Given the description of an element on the screen output the (x, y) to click on. 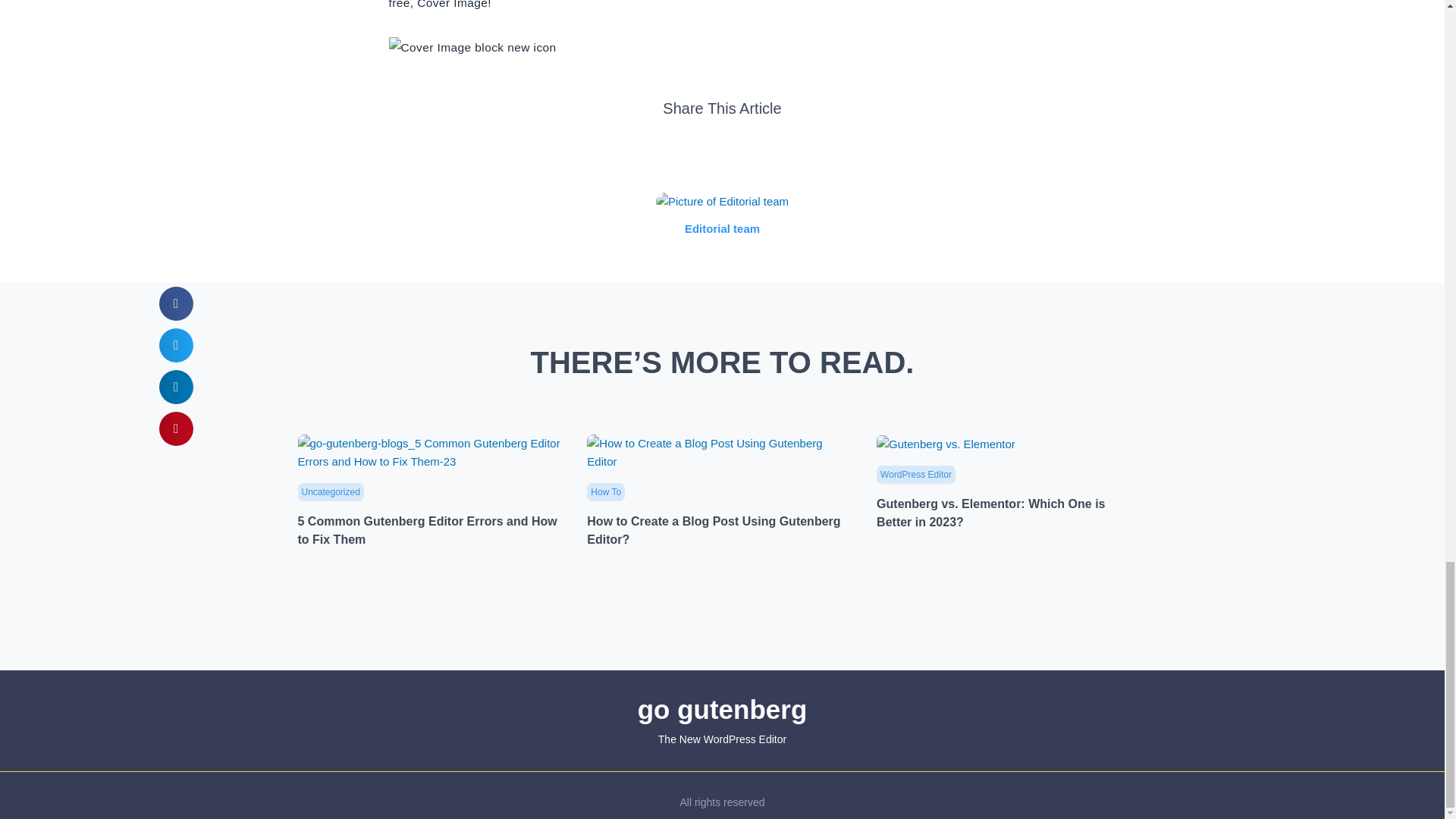
Editorial team (721, 228)
How to Create a Blog Post Using Gutenberg Editor? (719, 451)
5 Common Gutenberg Editor Errors and How to Fix Them (430, 451)
How to Create a Blog Post Using Gutenberg Editor (719, 452)
Gutenberg vs. Elementor: Which One is Better in 2023? (990, 512)
Gutenberg vs. Elementor (945, 443)
5 Common Gutenberg Editor Errors and How to Fix Them (426, 530)
Gutenberg vs. Elementor: Which One is Better in 2023? (945, 442)
How to Create a Blog Post Using Gutenberg Editor? (713, 530)
